Given the description of an element on the screen output the (x, y) to click on. 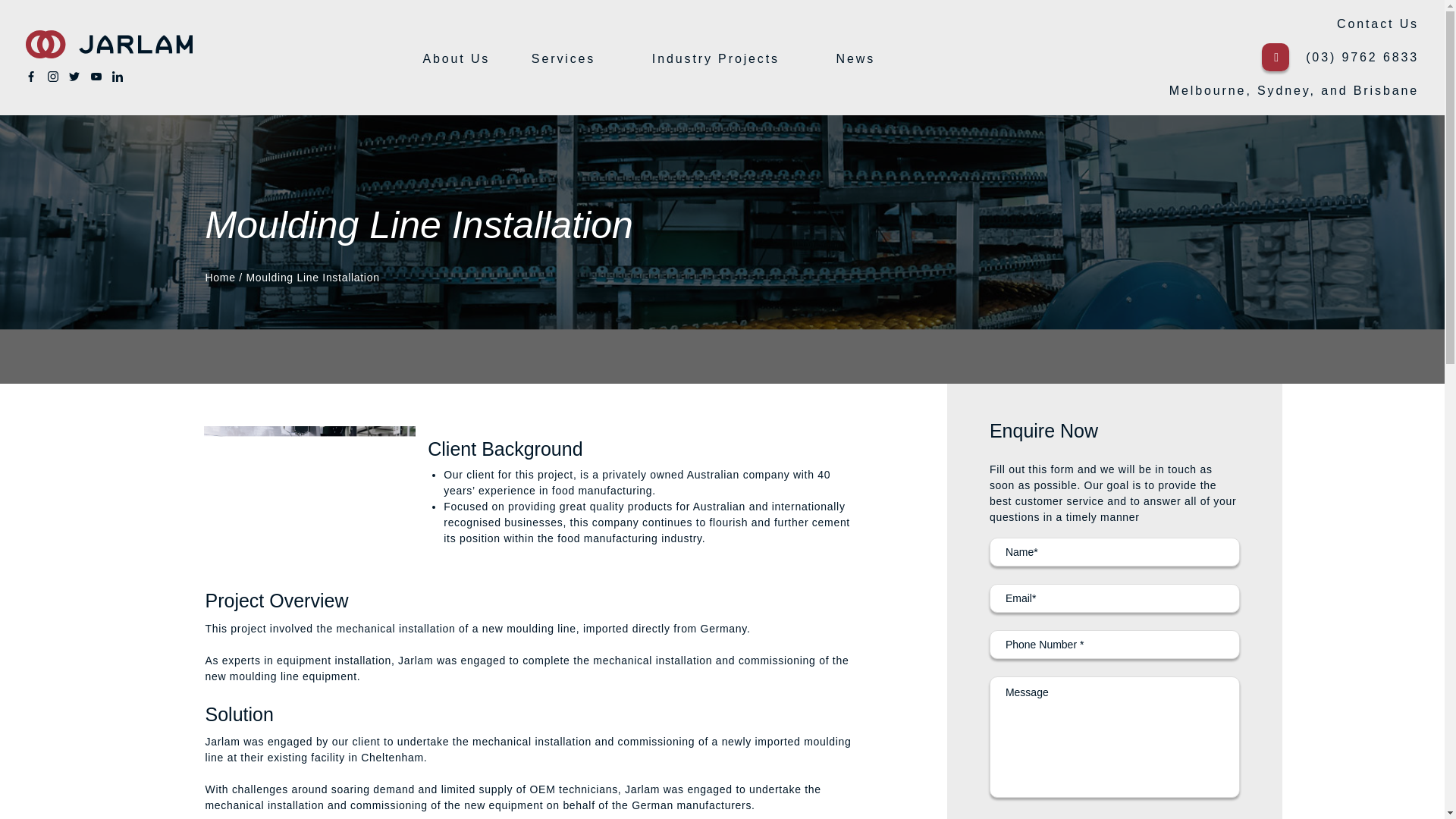
Contact Us (1377, 23)
About Us (455, 59)
Services (563, 59)
Go to Jarlam Australia. (219, 277)
Industry Projects (715, 59)
